Given the description of an element on the screen output the (x, y) to click on. 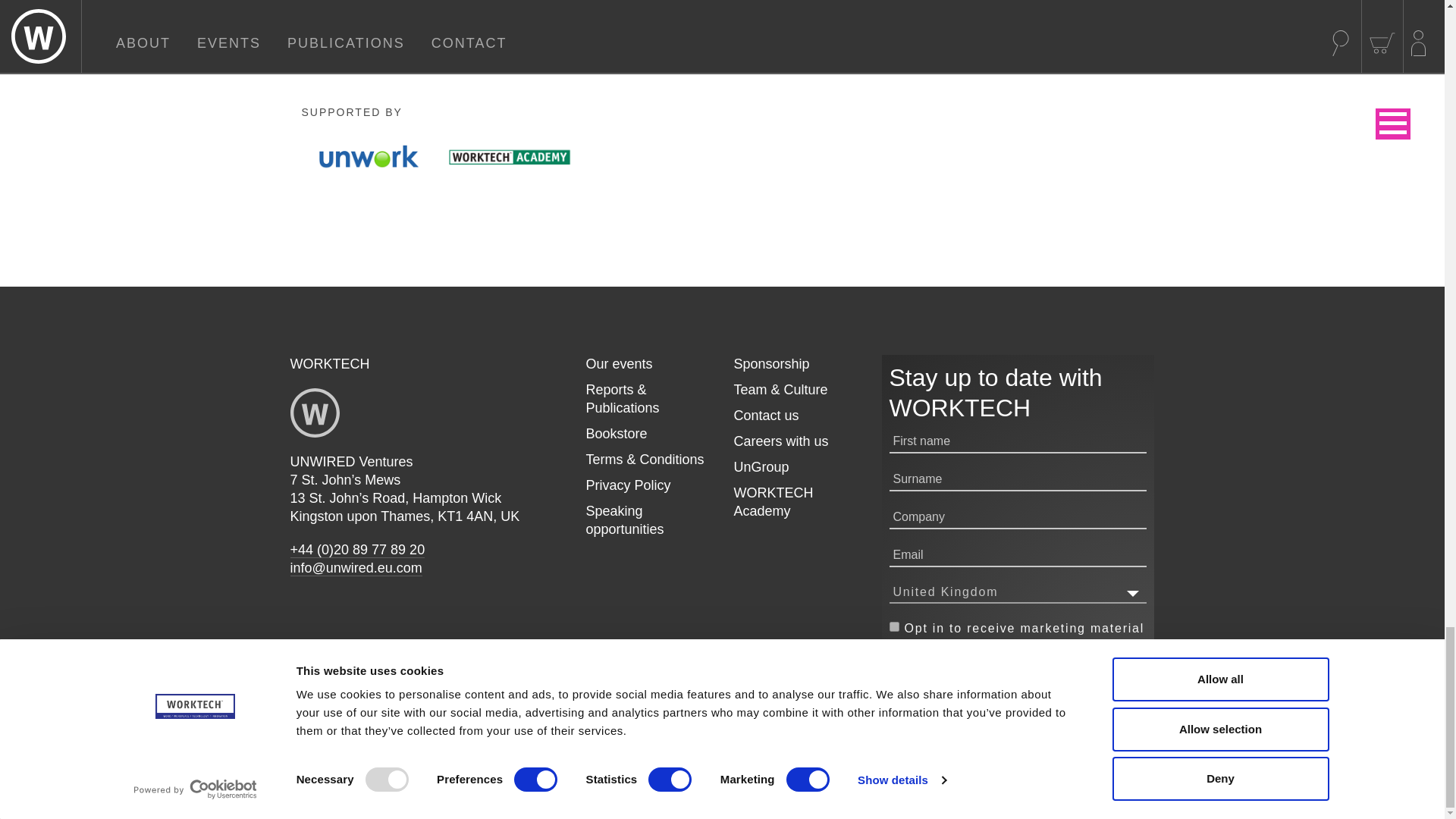
Anthony Brooks (995, 799)
on (893, 626)
SUBSCRIBE (949, 669)
ENTWURF Ltd (1124, 799)
